Given the description of an element on the screen output the (x, y) to click on. 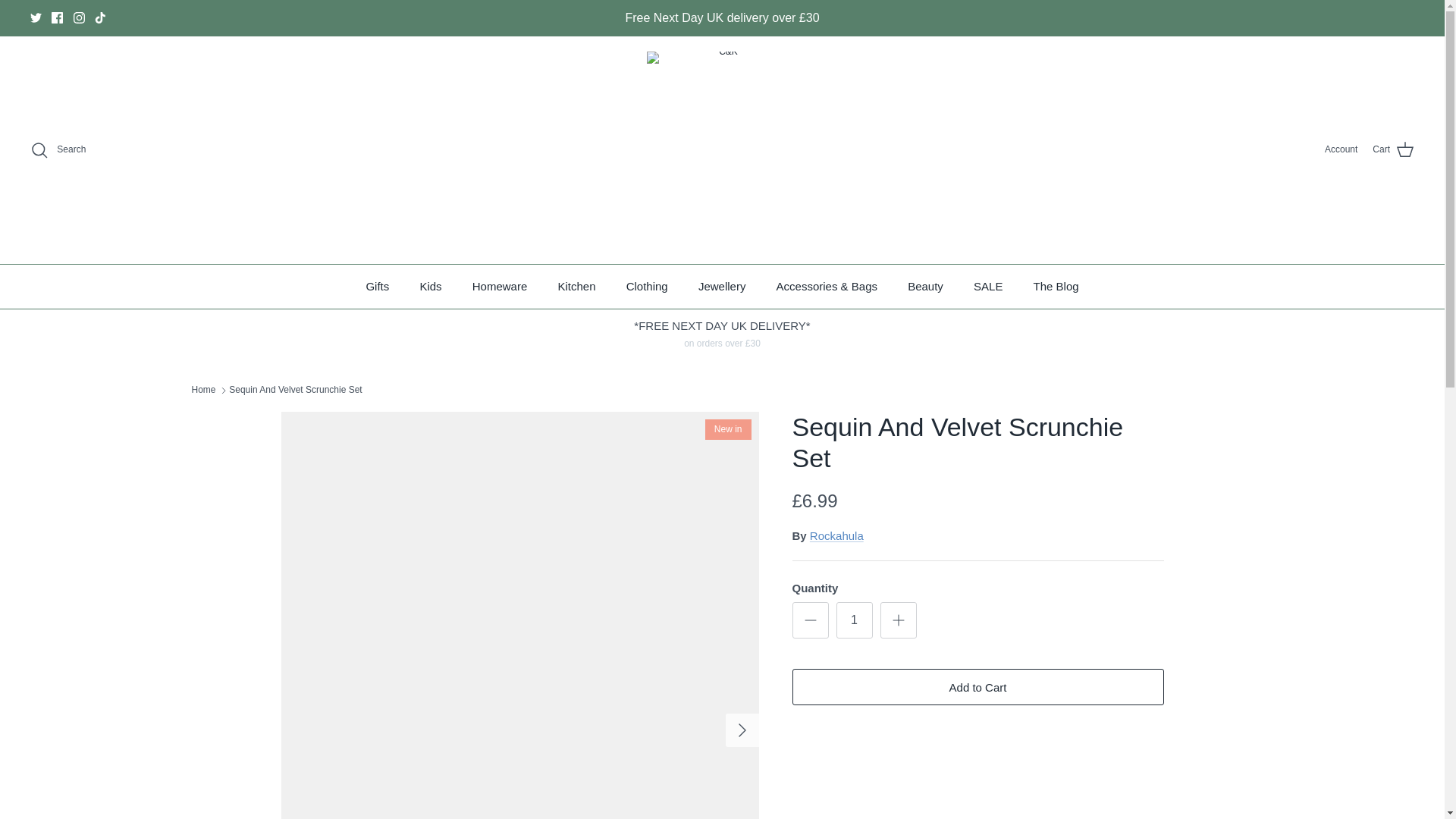
Search (57, 149)
Plus (897, 619)
Cart (1393, 149)
Instagram (79, 17)
Account (1340, 149)
Right (741, 730)
Facebook (56, 17)
Minus (809, 619)
Gifts (377, 286)
1 (853, 619)
Twitter (36, 17)
Instagram (79, 17)
Facebook (56, 17)
Twitter (36, 17)
